Given the description of an element on the screen output the (x, y) to click on. 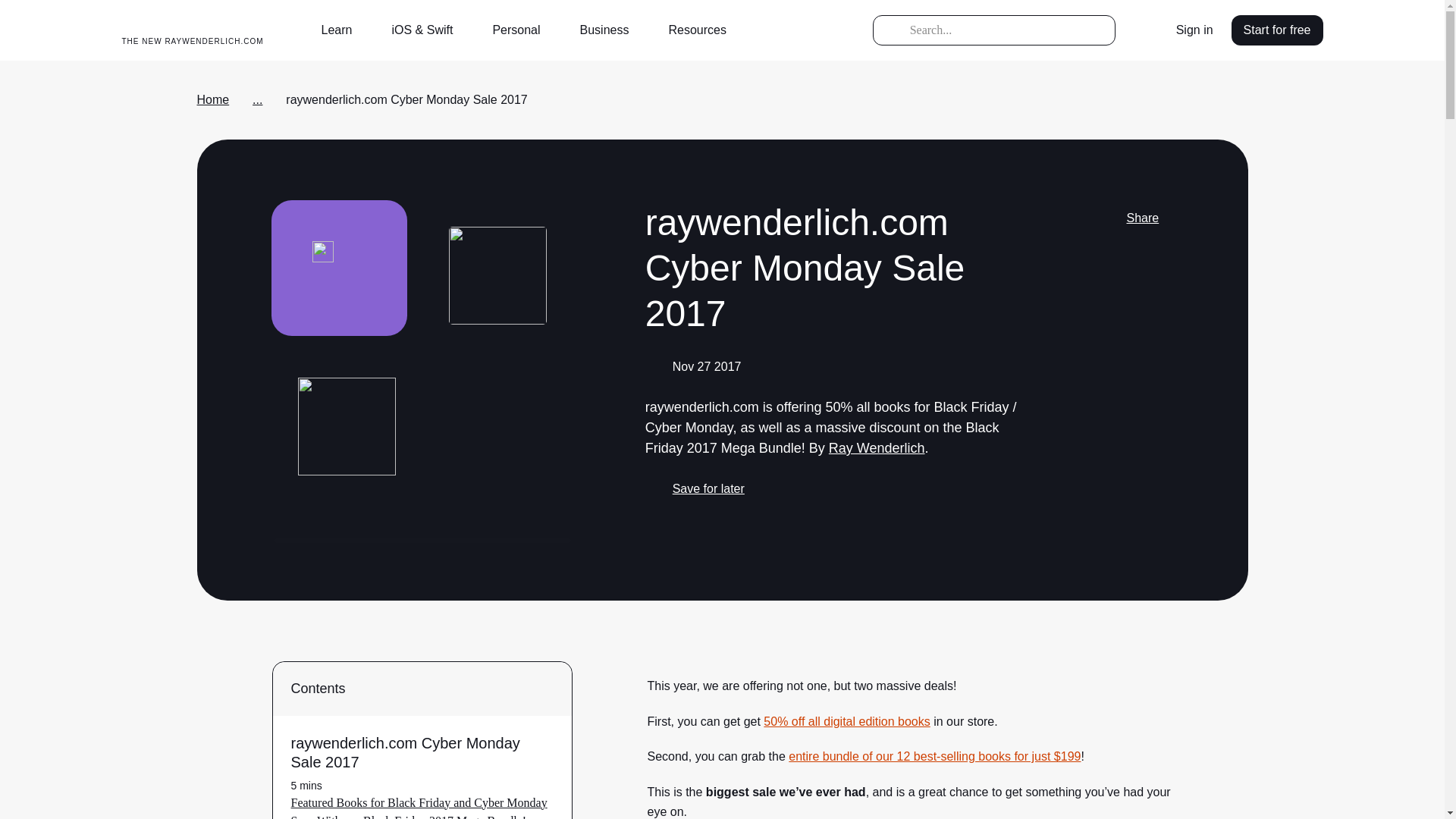
Featured Books for Black Friday and Cyber Monday (419, 802)
Save With our Black Friday 2017 Mega Bundle! (409, 816)
